Given the description of an element on the screen output the (x, y) to click on. 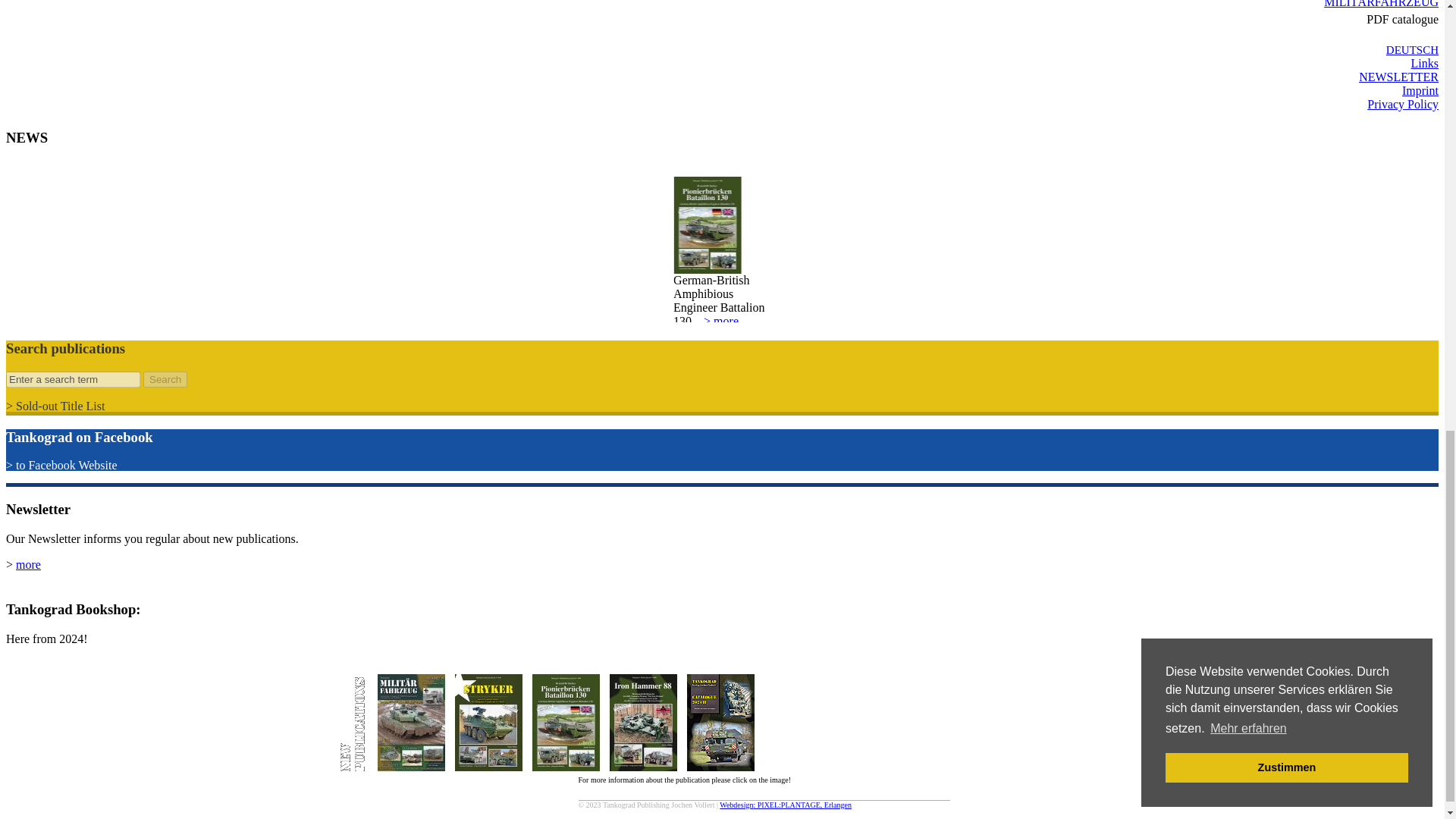
Search (164, 379)
Enter a search term (72, 379)
